Given the description of an element on the screen output the (x, y) to click on. 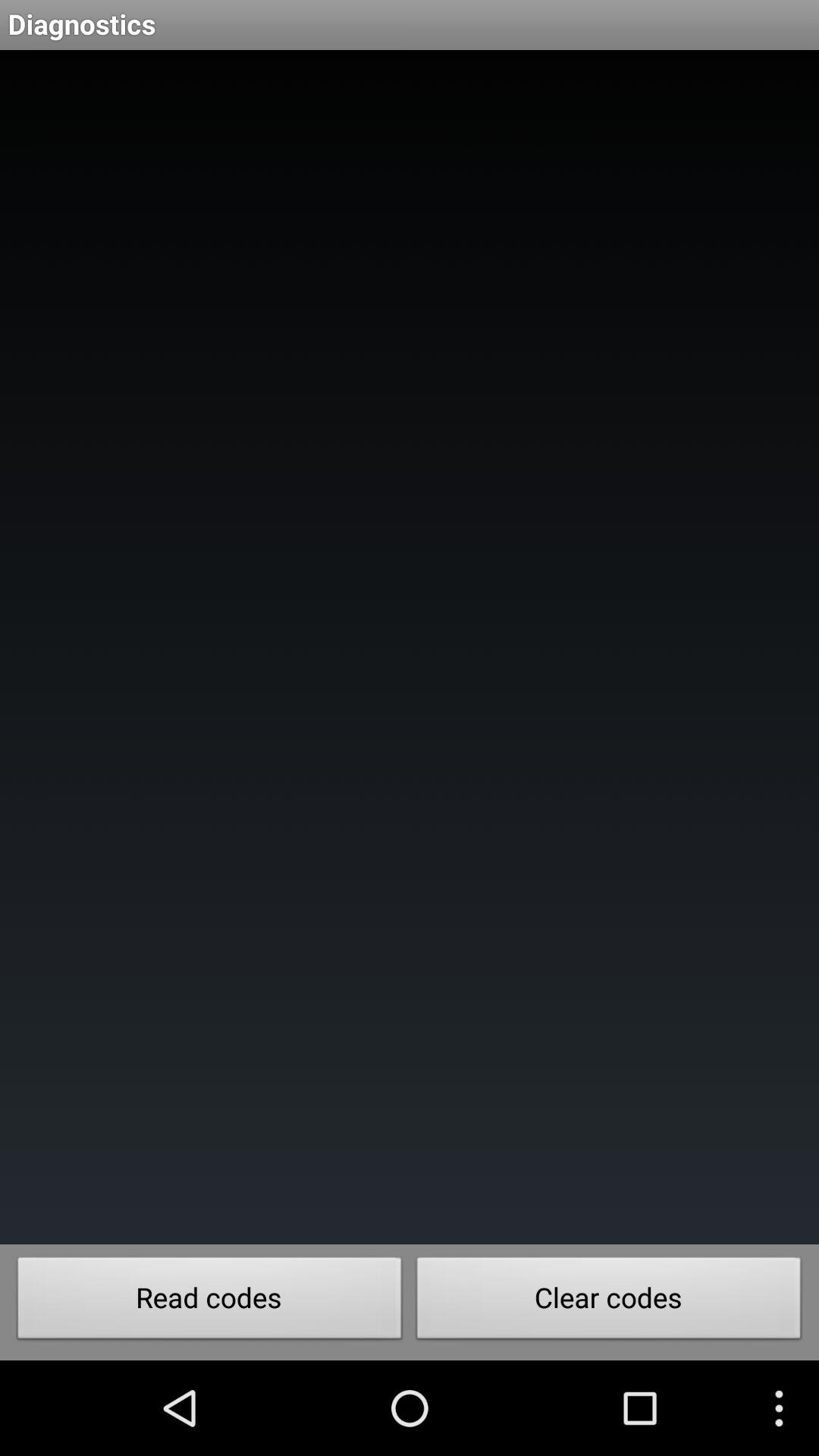
open the item below the diagnostics item (409, 647)
